Given the description of an element on the screen output the (x, y) to click on. 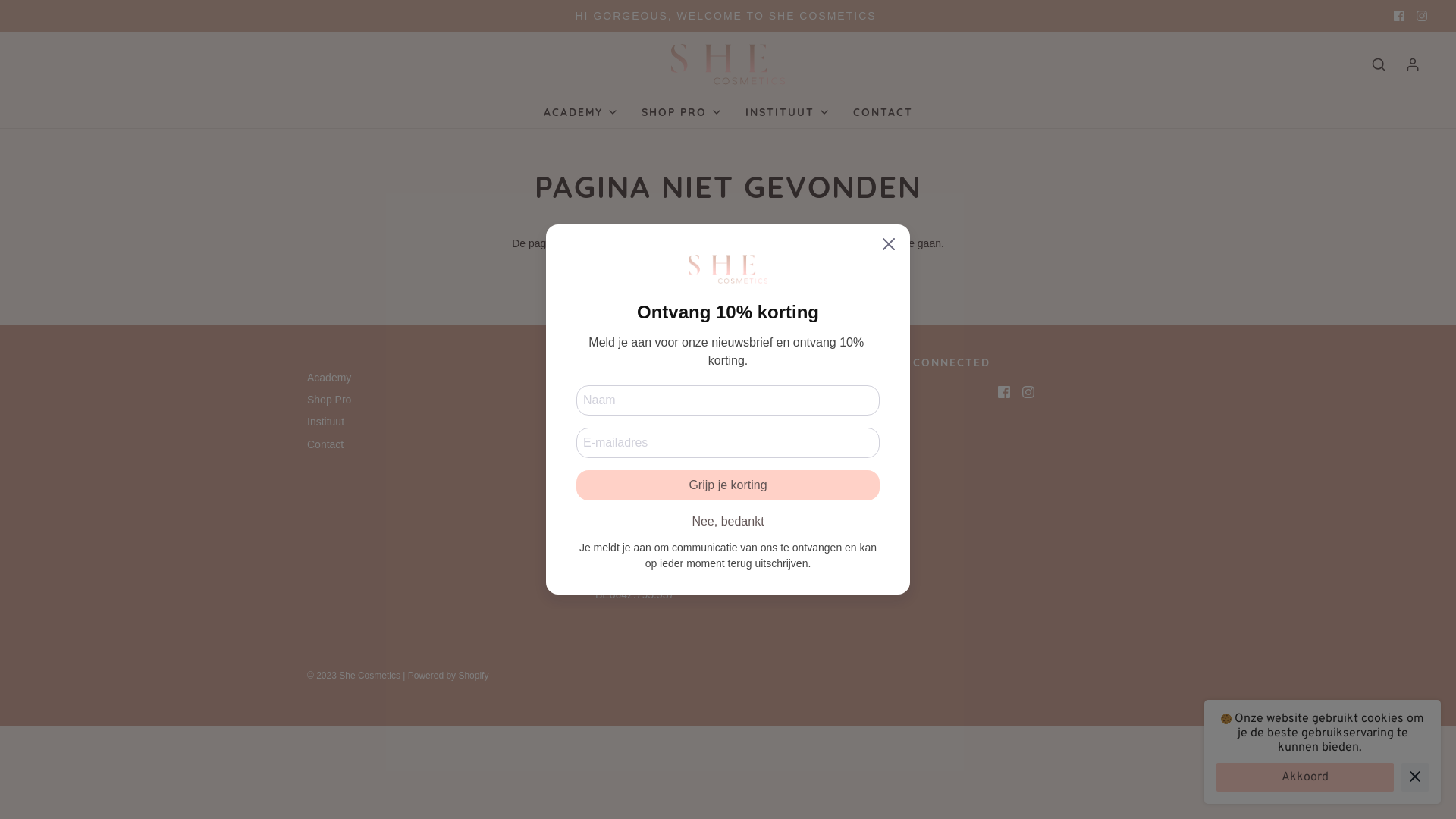
ACADEMY Element type: text (580, 112)
INSTITUUT Element type: text (786, 112)
Shop Pro Element type: text (329, 402)
FACEBOOK ICON Element type: text (1398, 15)
CONTACT Element type: text (882, 112)
Akkoord Element type: text (1304, 776)
INSTAGRAM ICON Element type: text (1421, 15)
Instagram icon Element type: text (1028, 390)
Academy Element type: text (329, 379)
hier Element type: text (748, 243)
Instituut Element type: text (325, 424)
Facebook icon Element type: text (1003, 390)
Contact Element type: text (325, 447)
SHOP PRO Element type: text (681, 112)
Zoek Element type: hover (1378, 64)
Log in Element type: hover (1412, 64)
